Given the description of an element on the screen output the (x, y) to click on. 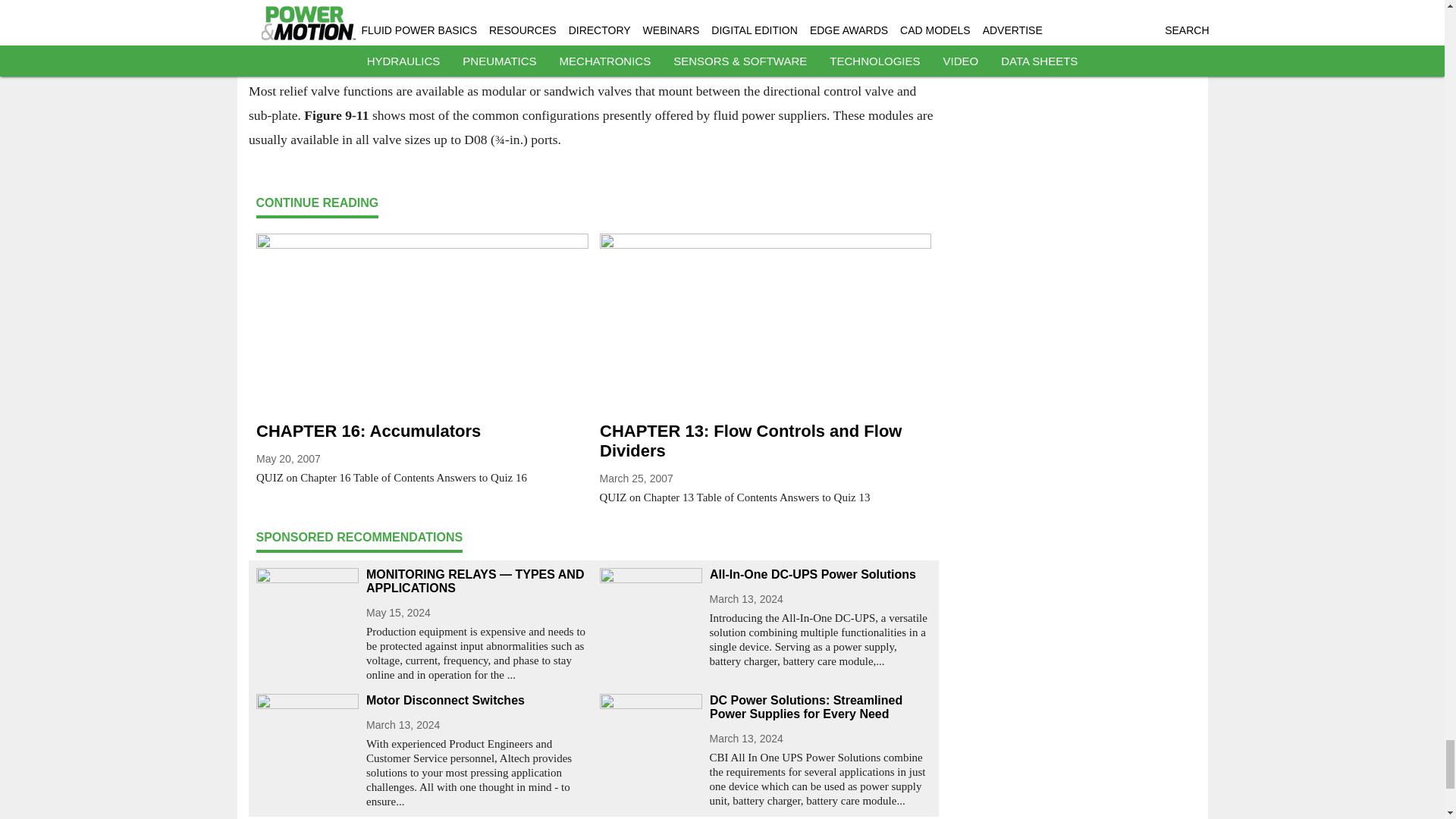
All-In-One DC-UPS Power Solutions (820, 574)
CHAPTER 16: Accumulators (422, 431)
Motor Disconnect Switches (476, 700)
CHAPTER 13: Flow Controls and Flow Dividers (764, 441)
